Given the description of an element on the screen output the (x, y) to click on. 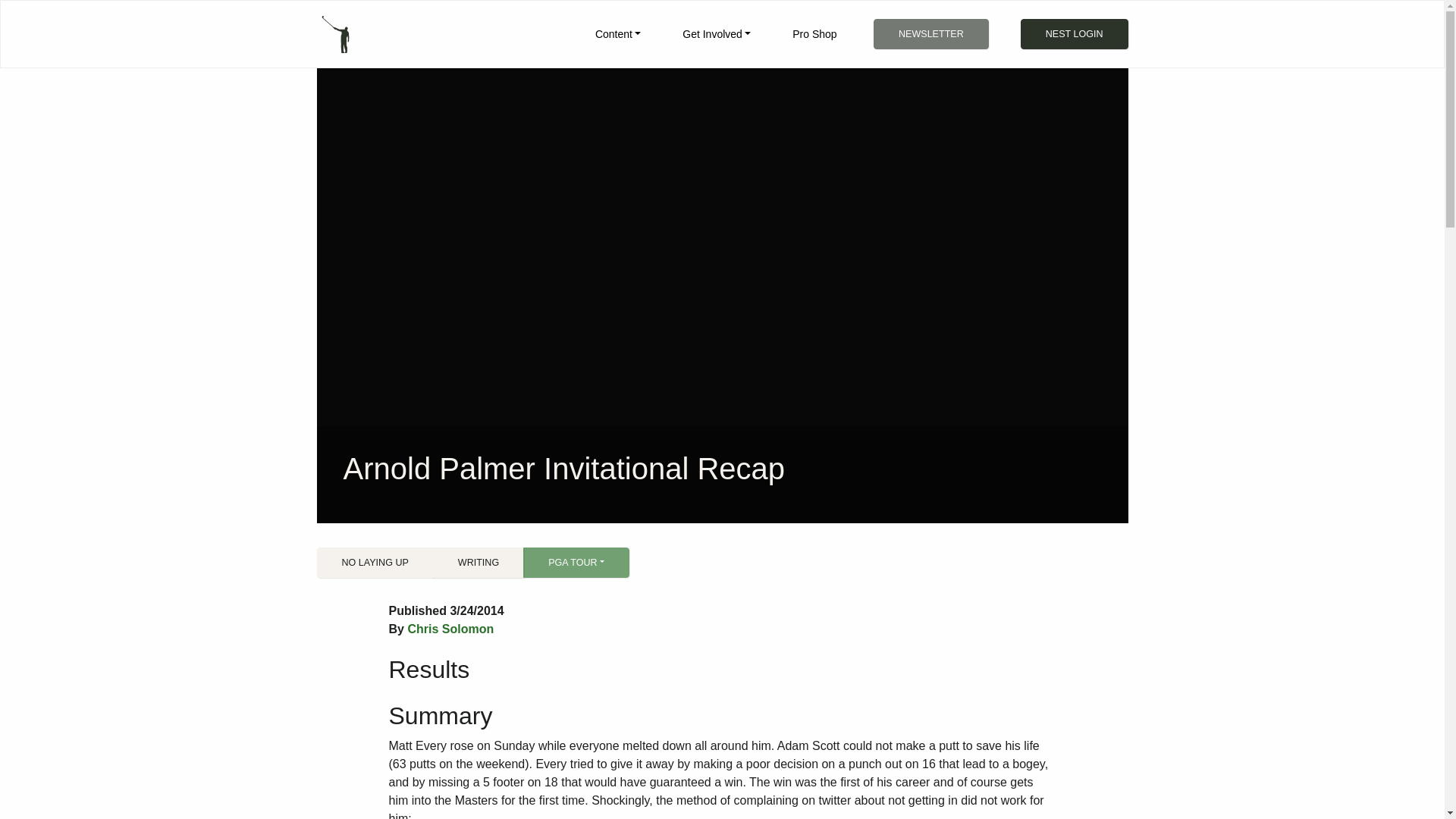
Pro Shop (814, 33)
WRITING (478, 562)
NEST LOGIN (1074, 33)
NO LAYING UP (375, 562)
NEWSLETTER (930, 33)
Chris Solomon (450, 628)
PGA TOUR (575, 562)
